Given the description of an element on the screen output the (x, y) to click on. 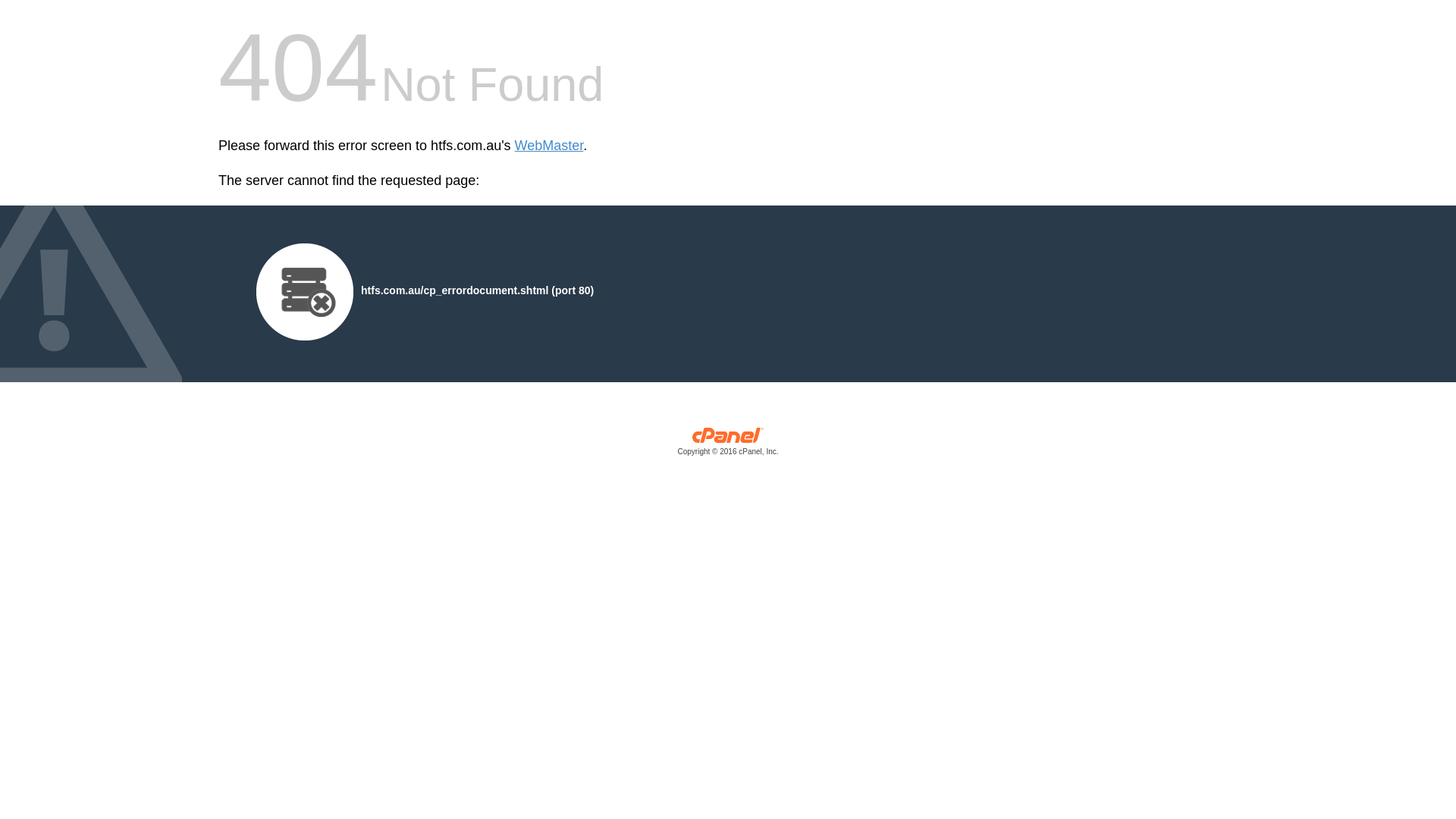
WebMaster Element type: text (548, 145)
